Given the description of an element on the screen output the (x, y) to click on. 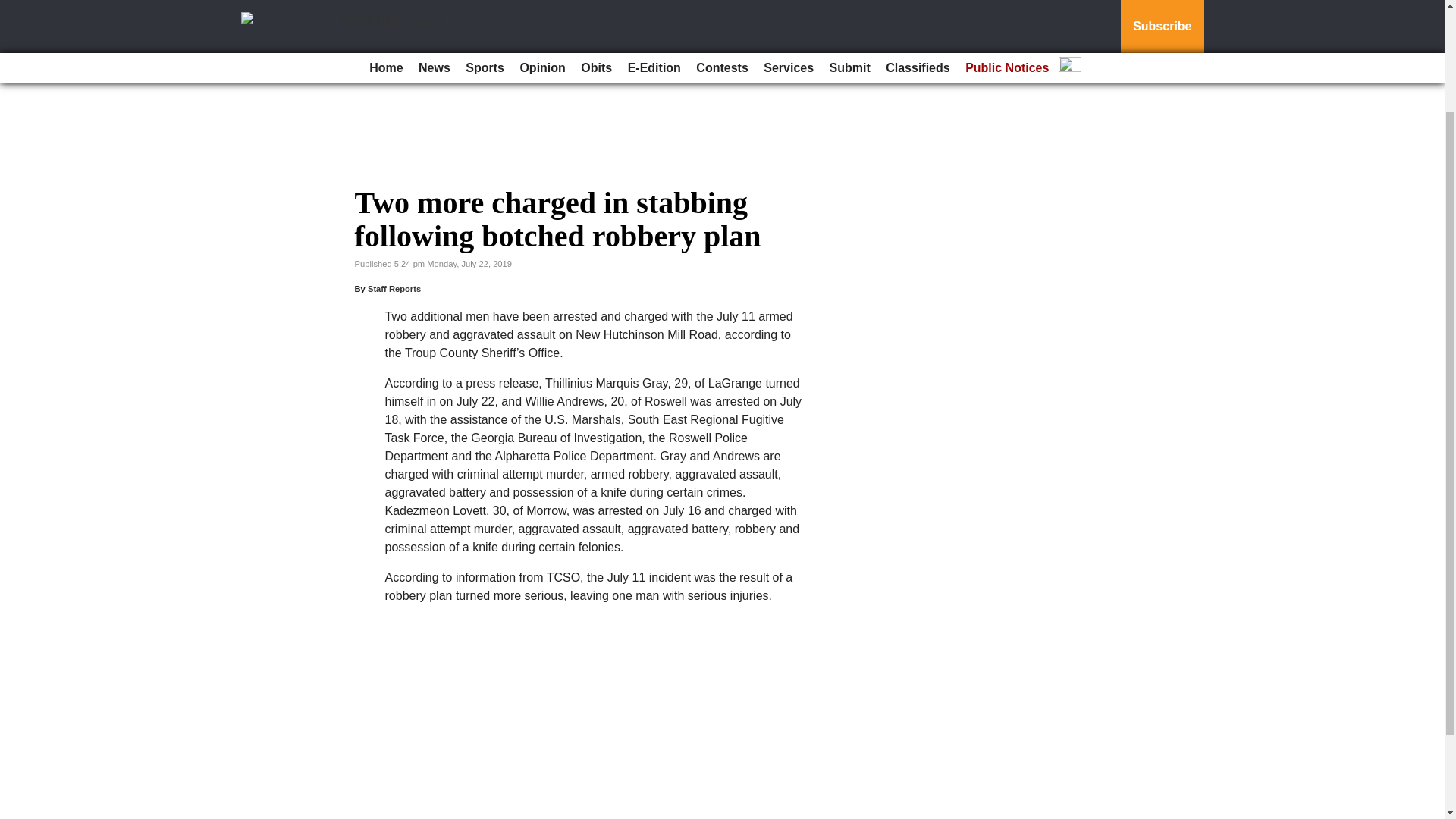
Staff Reports (394, 288)
